Given the description of an element on the screen output the (x, y) to click on. 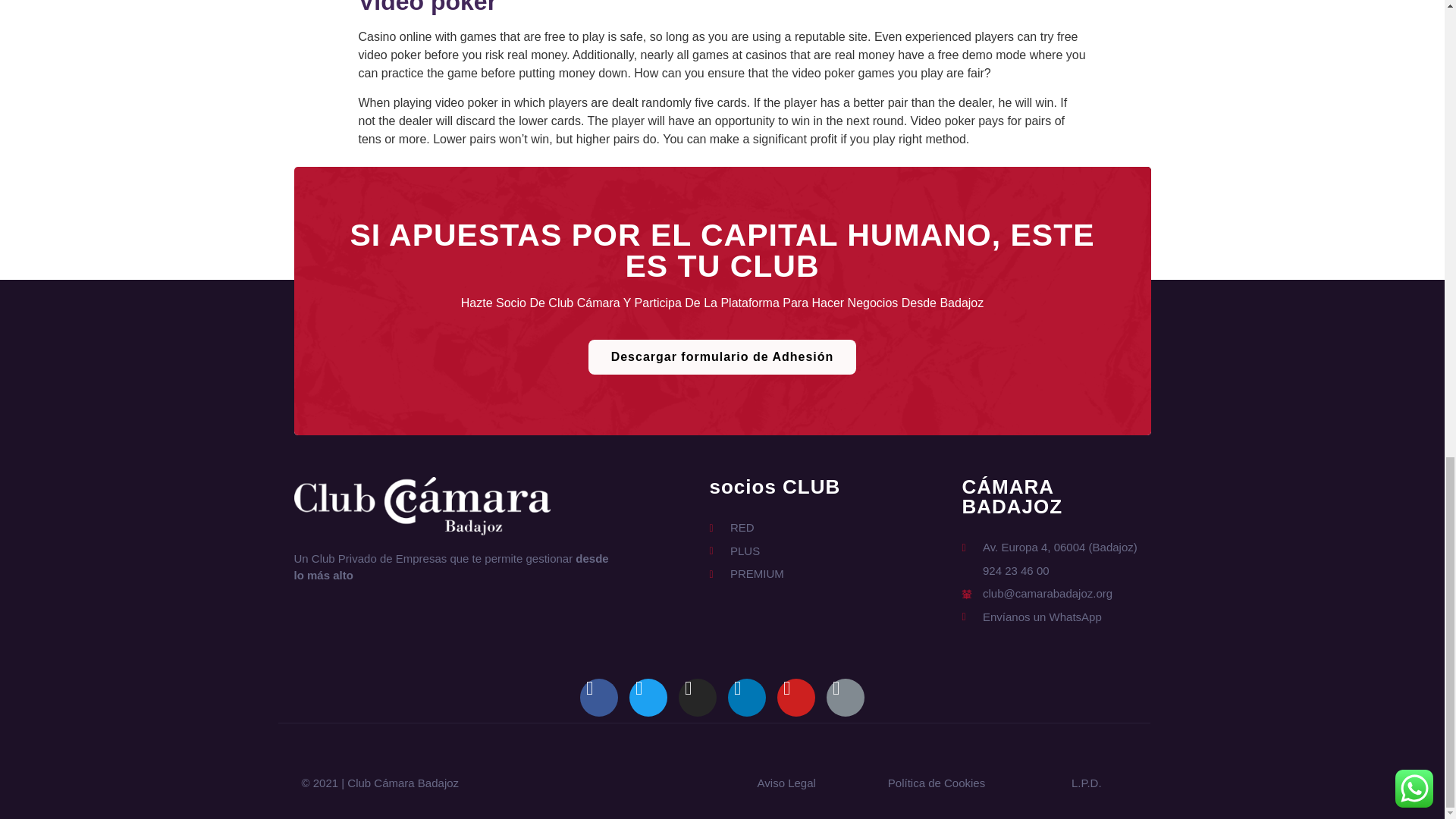
Aviso Legal (786, 782)
RED (746, 528)
PREMIUM (746, 574)
PLUS (746, 551)
L.P.D. (1086, 782)
924 23 46 00 (1048, 570)
